Given the description of an element on the screen output the (x, y) to click on. 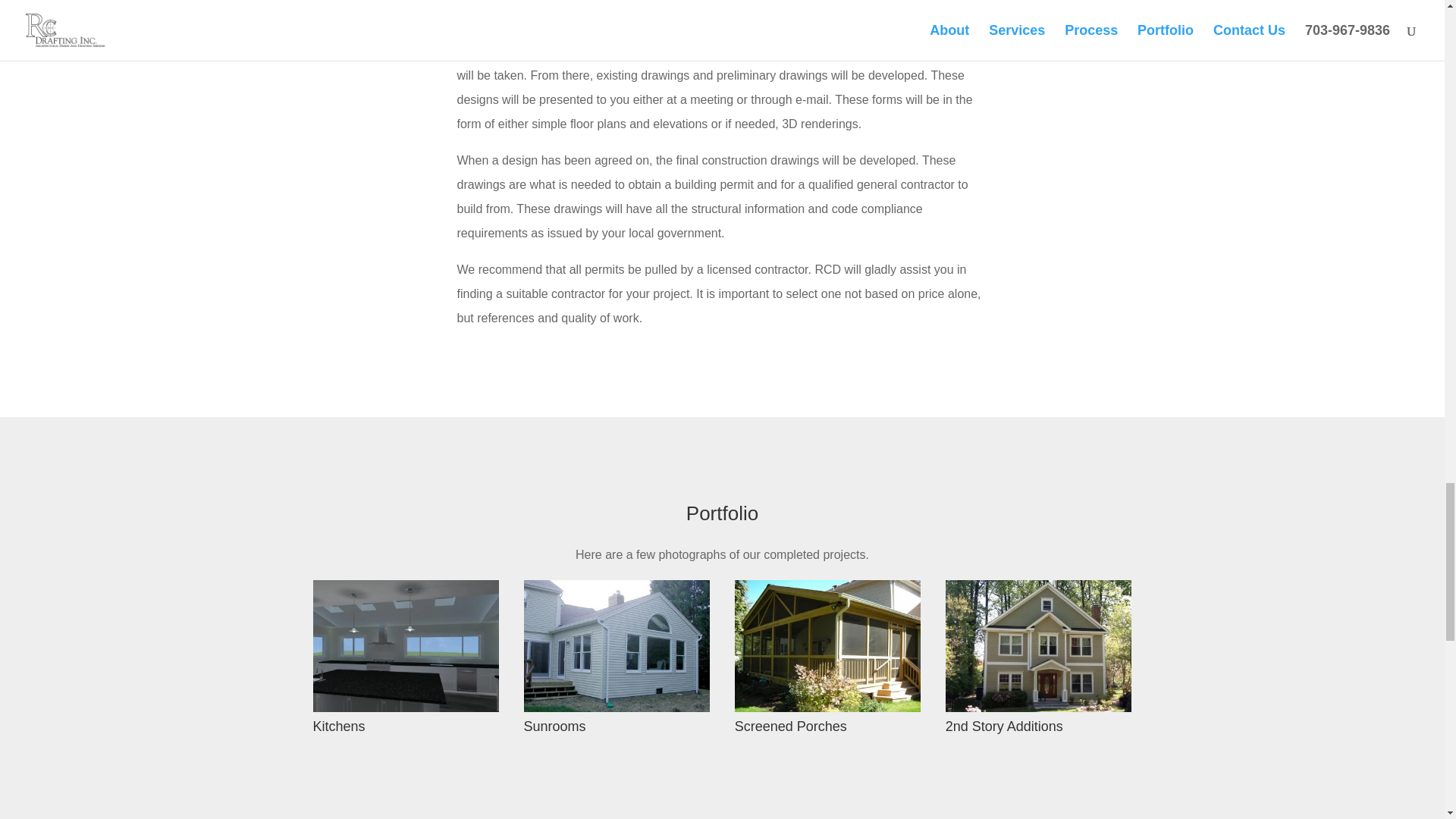
Kitchens (339, 726)
Sunrooms (555, 726)
Screened Porches (828, 645)
Kitchens (339, 726)
Sunrooms (617, 645)
Screened Porches (791, 726)
Sunrooms (555, 726)
2nd Story Additions (1003, 726)
Screened Porches (791, 726)
Kitchens (406, 645)
